Given the description of an element on the screen output the (x, y) to click on. 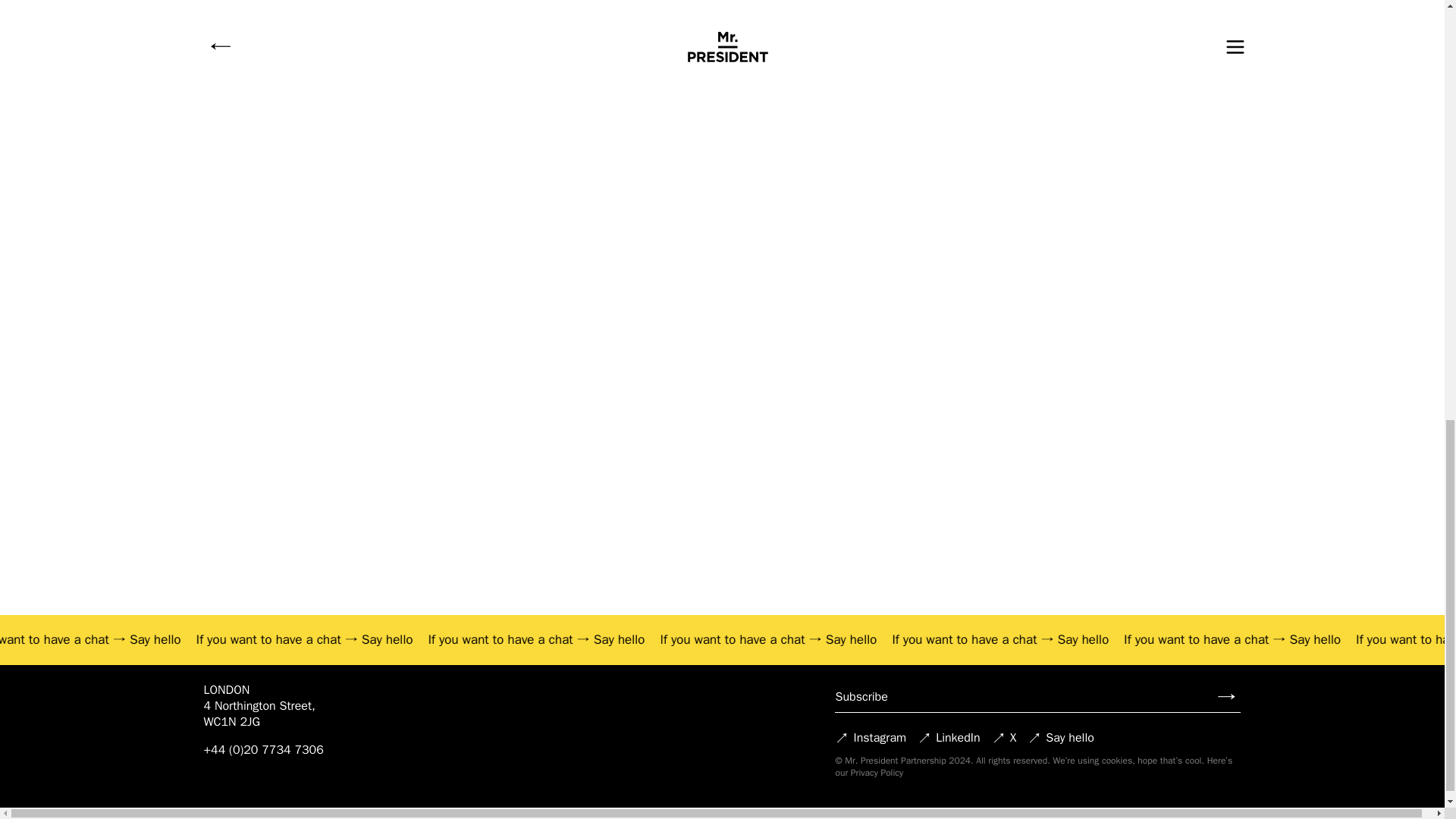
Say hello (637, 639)
Say hello (1093, 639)
Say hello (179, 639)
Say hello (1323, 639)
Say hello (866, 639)
Say hello (409, 639)
